Given the description of an element on the screen output the (x, y) to click on. 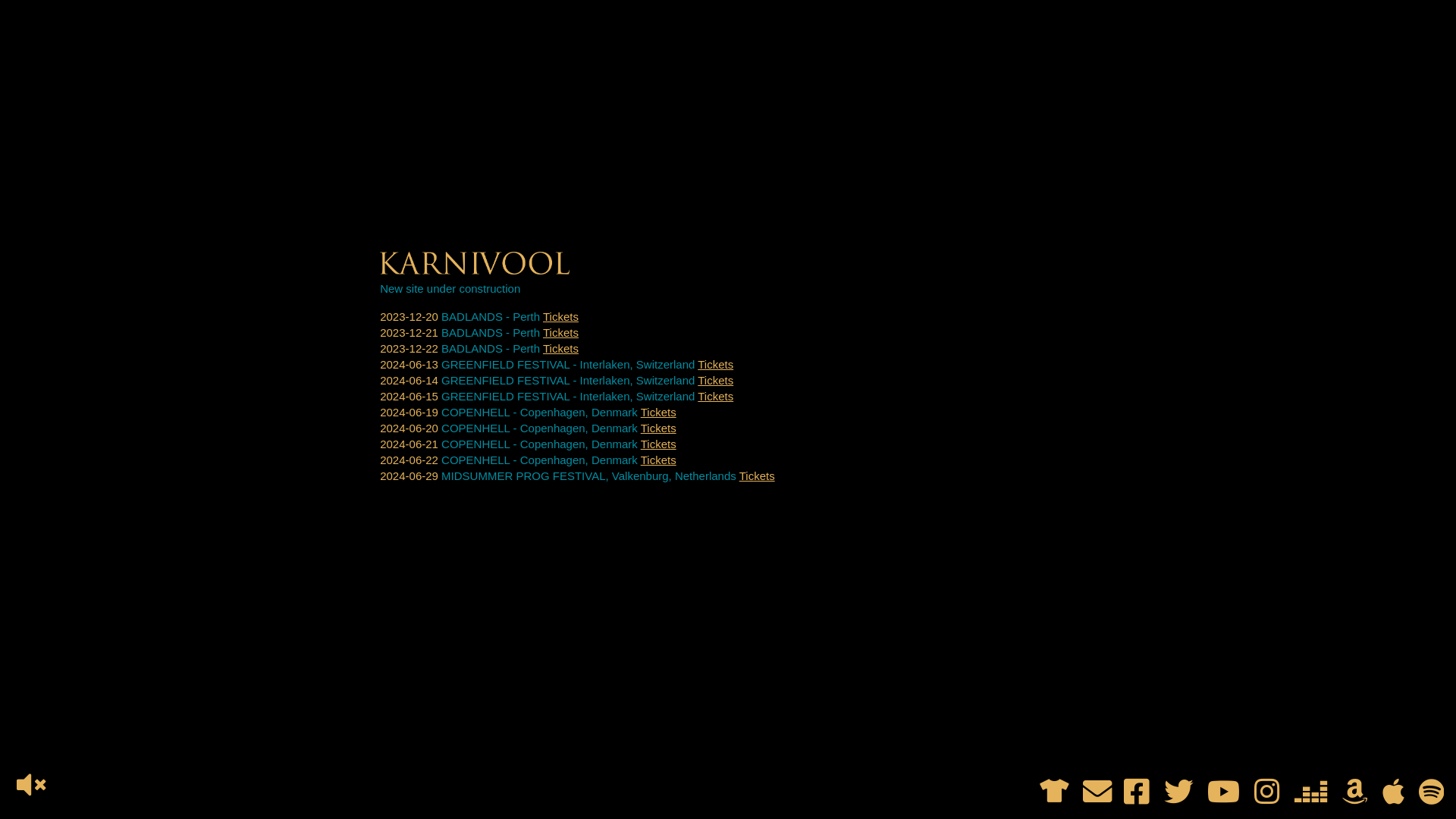
Tickets Element type: text (560, 316)
Tickets Element type: text (715, 379)
Tickets Element type: text (757, 475)
Tickets Element type: text (658, 427)
Tickets Element type: text (658, 411)
Tickets Element type: text (658, 443)
Tickets Element type: text (715, 395)
Tickets Element type: text (560, 332)
Tickets Element type: text (560, 348)
Tickets Element type: text (715, 363)
Tickets Element type: text (658, 459)
